Given the description of an element on the screen output the (x, y) to click on. 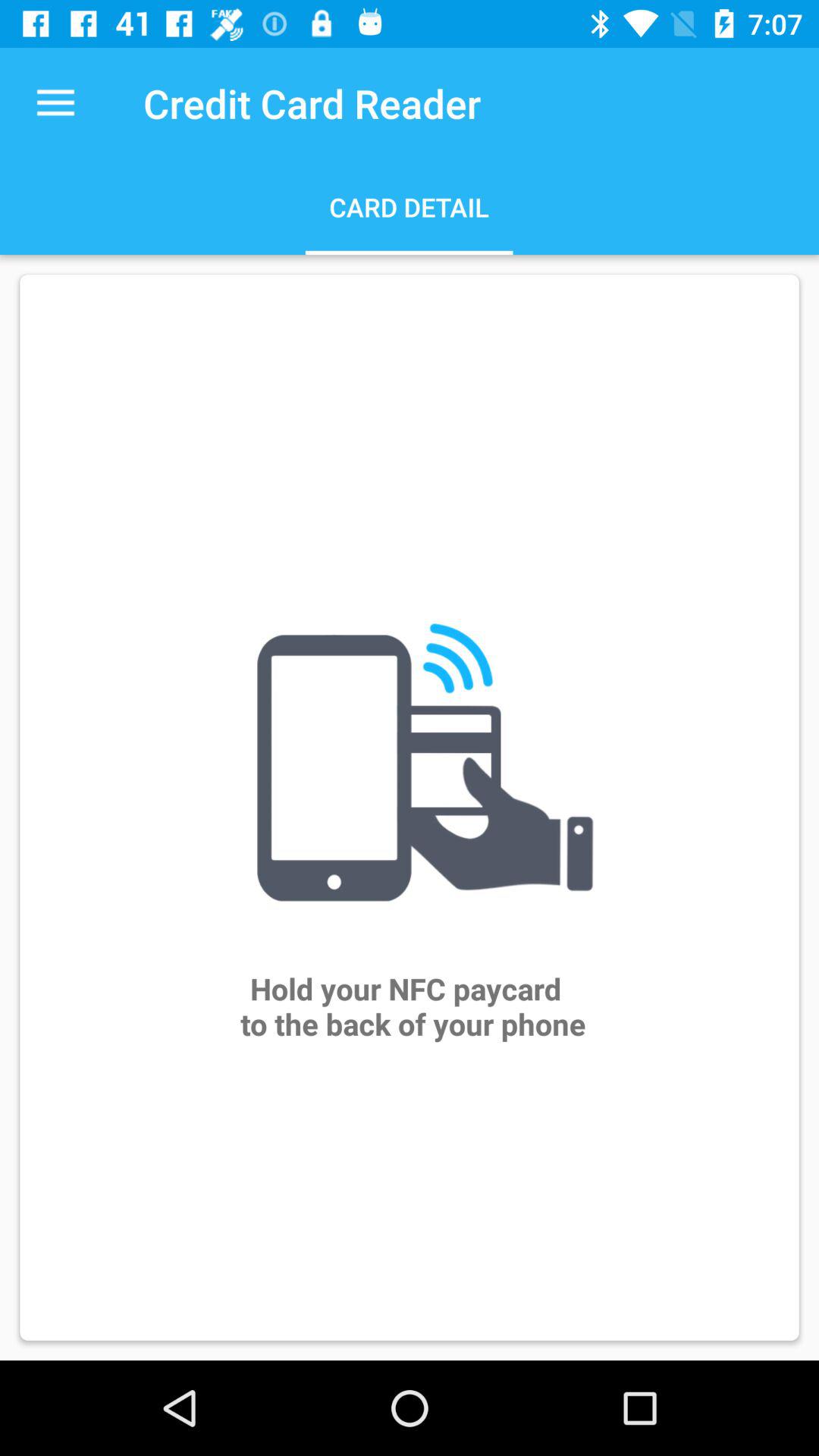
launch the item at the top left corner (55, 103)
